Given the description of an element on the screen output the (x, y) to click on. 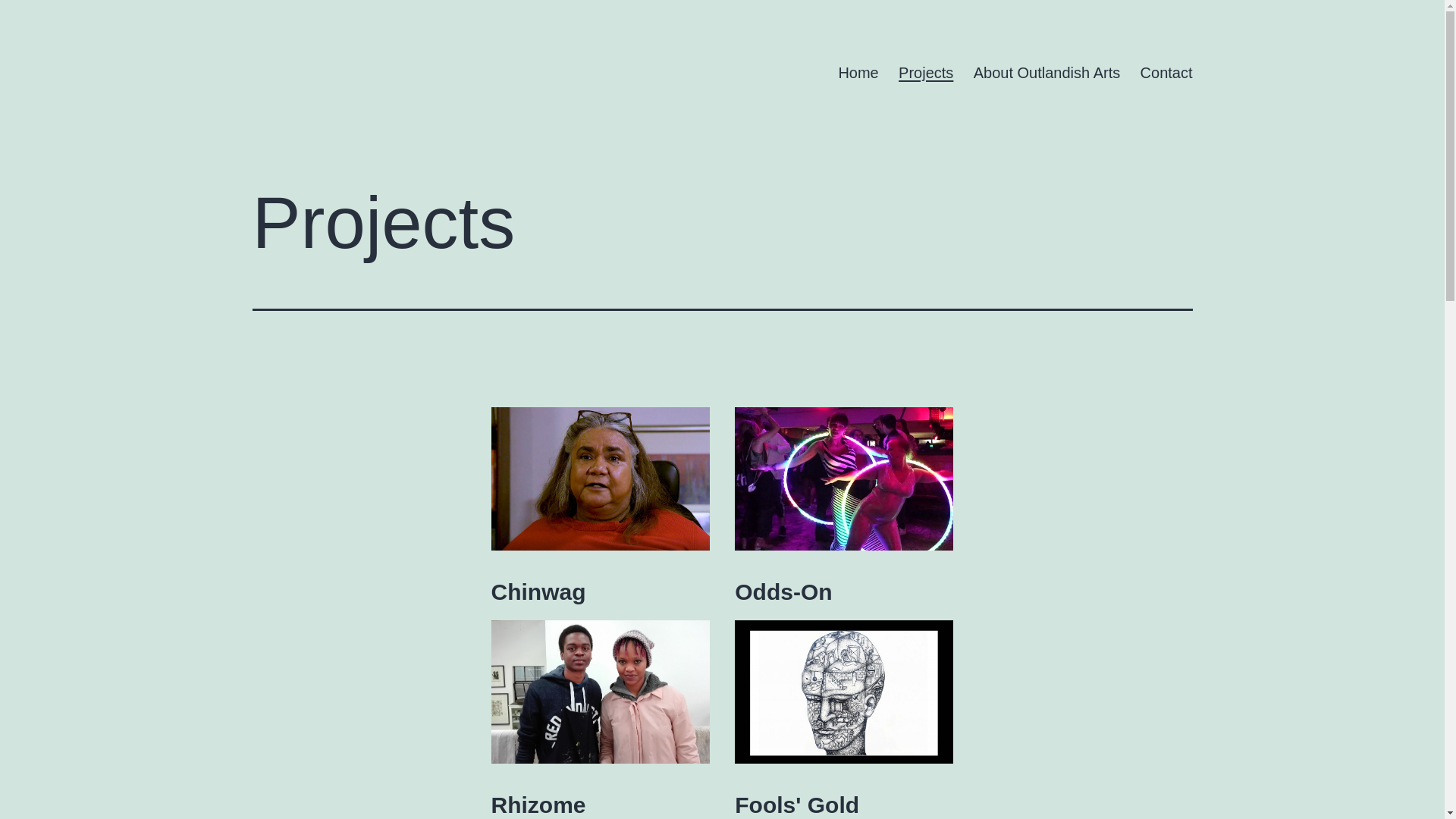
Projects Element type: text (925, 72)
Contact Element type: text (1165, 72)
Fools' Gold Element type: text (796, 804)
Odds-On Element type: text (782, 591)
About Outlandish Arts Element type: text (1046, 72)
Rhizome Element type: text (538, 804)
Home Element type: text (858, 72)
Chinwag Element type: text (538, 591)
